Given the description of an element on the screen output the (x, y) to click on. 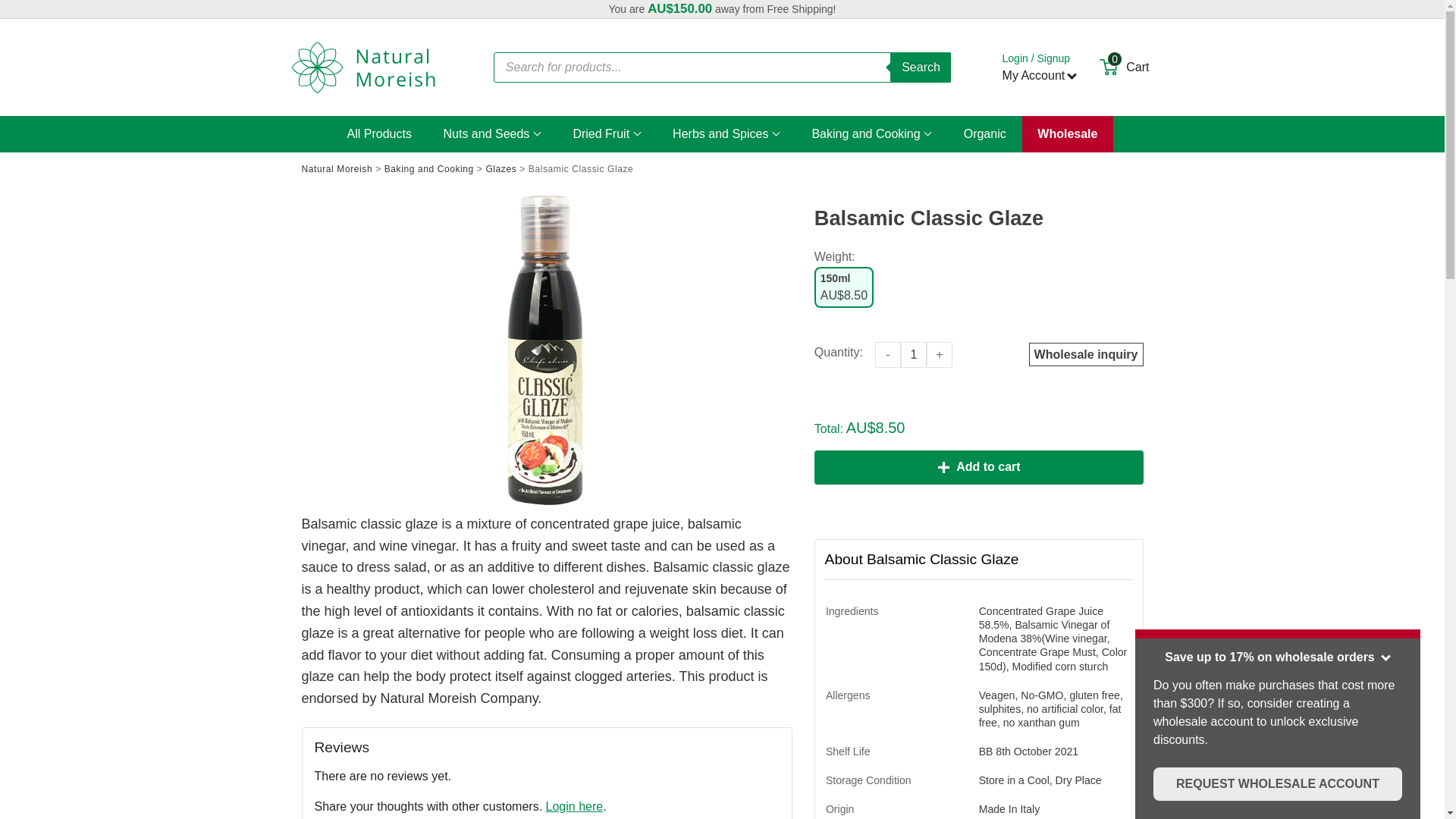
Baking and Cooking Element type: text (871, 134)
Natural Moreish Element type: hover (362, 67)
Qty Element type: hover (913, 354)
Login here Element type: text (574, 806)
Login / Signup
My Account Element type: text (1039, 66)
Glazes Element type: text (500, 168)
Natural Moreish Element type: text (337, 168)
Herbs and Spices Element type: text (725, 134)
Organic Element type: text (984, 134)
REQUEST WHOLESALE ACCOUNT Element type: text (1277, 783)
- Element type: text (887, 354)
Save up to 17% on wholesale orders Element type: text (1277, 652)
+ Element type: text (939, 354)
Search Element type: text (920, 67)
All Products Element type: text (379, 134)
Baking and Cooking Element type: text (428, 168)
Balsamic Classic Glaze Element type: hover (547, 349)
+
Add to cart Element type: text (978, 467)
0
Cart Element type: text (1123, 67)
Nuts and Seeds Element type: text (492, 134)
Wholesale inquiry Element type: text (1086, 354)
Dried Fruit Element type: text (607, 134)
Wholesale Element type: text (1067, 134)
